Given the description of an element on the screen output the (x, y) to click on. 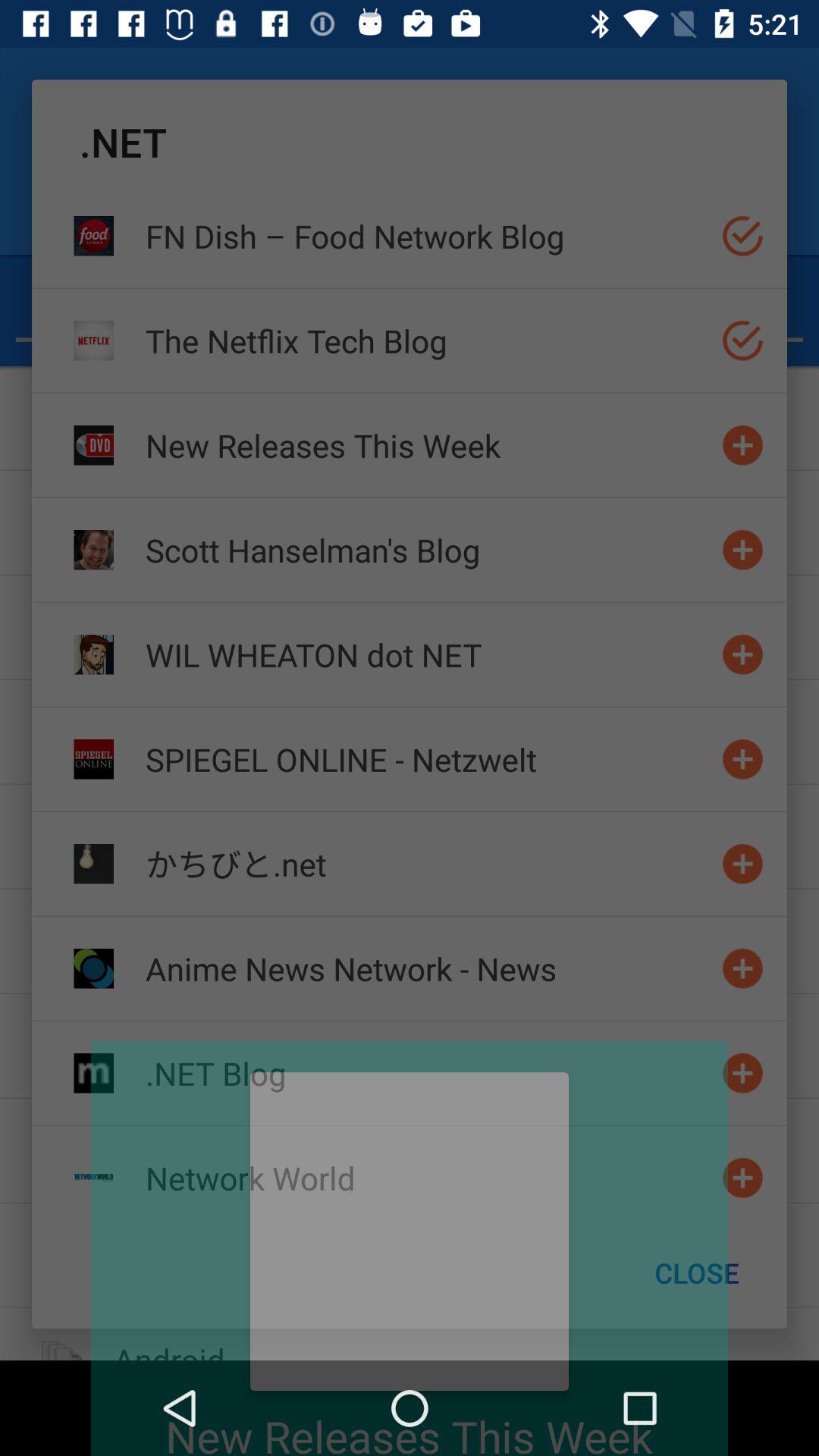
add to the existing list (742, 863)
